Given the description of an element on the screen output the (x, y) to click on. 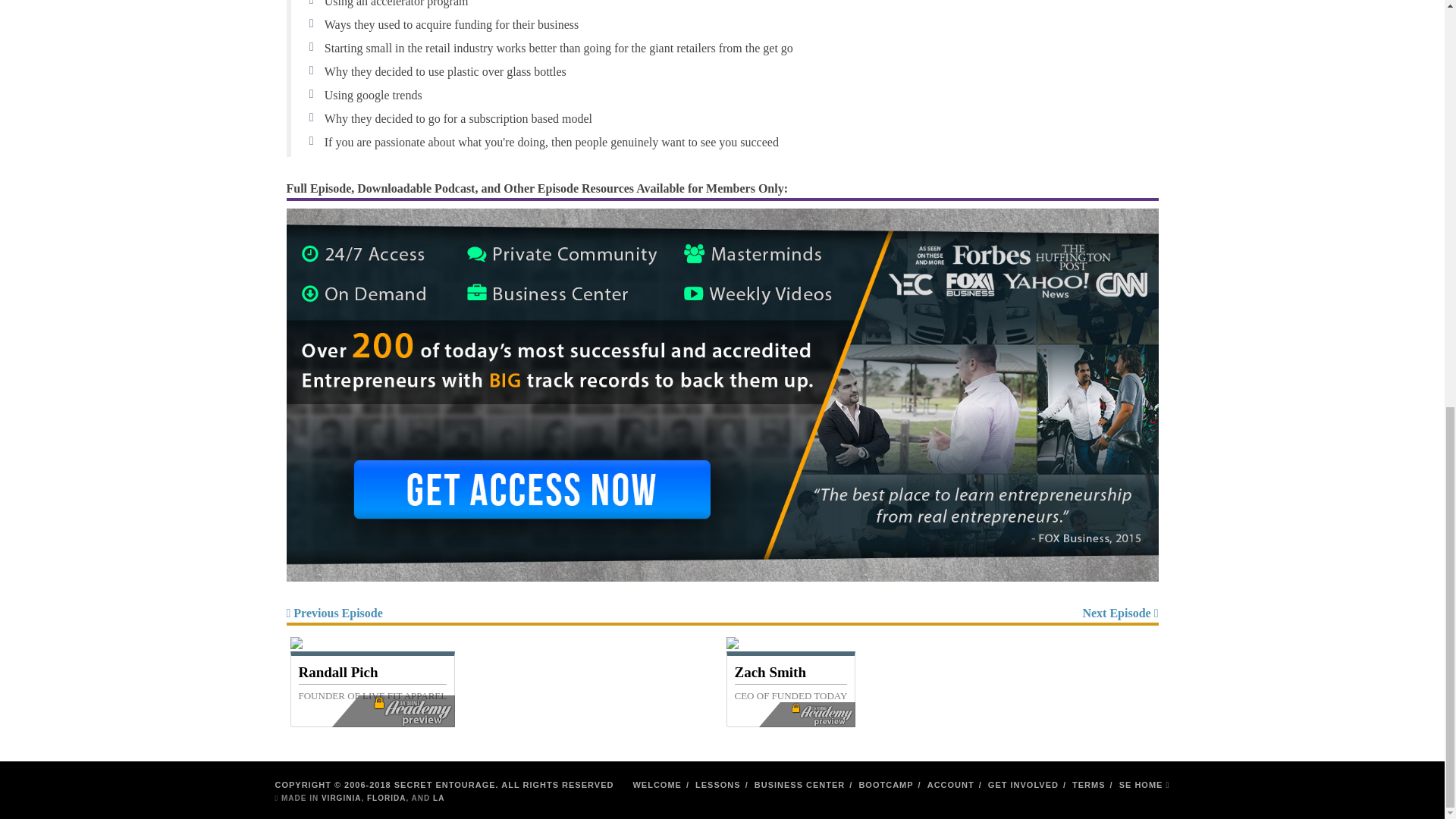
Learn More (791, 680)
Previous Episode (722, 393)
GET INVOLVED (504, 614)
SE HOME (1023, 784)
LESSONS (1144, 784)
ACCOUNT (718, 784)
Next Episode (950, 784)
BOOTCAMP (939, 614)
BUSINESS CENTER (885, 784)
